Given the description of an element on the screen output the (x, y) to click on. 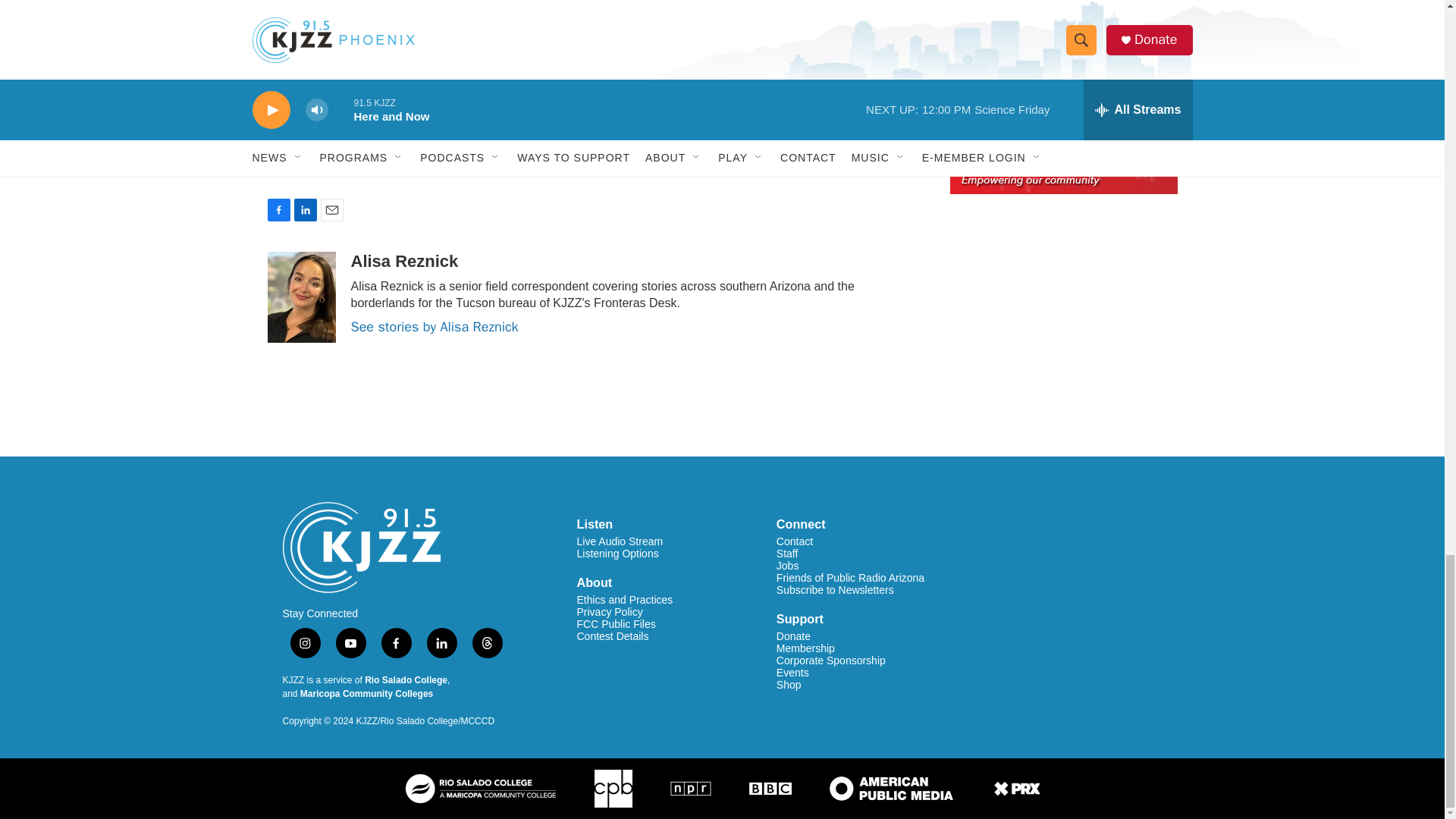
3rd party ad content (1062, 49)
